Given the description of an element on the screen output the (x, y) to click on. 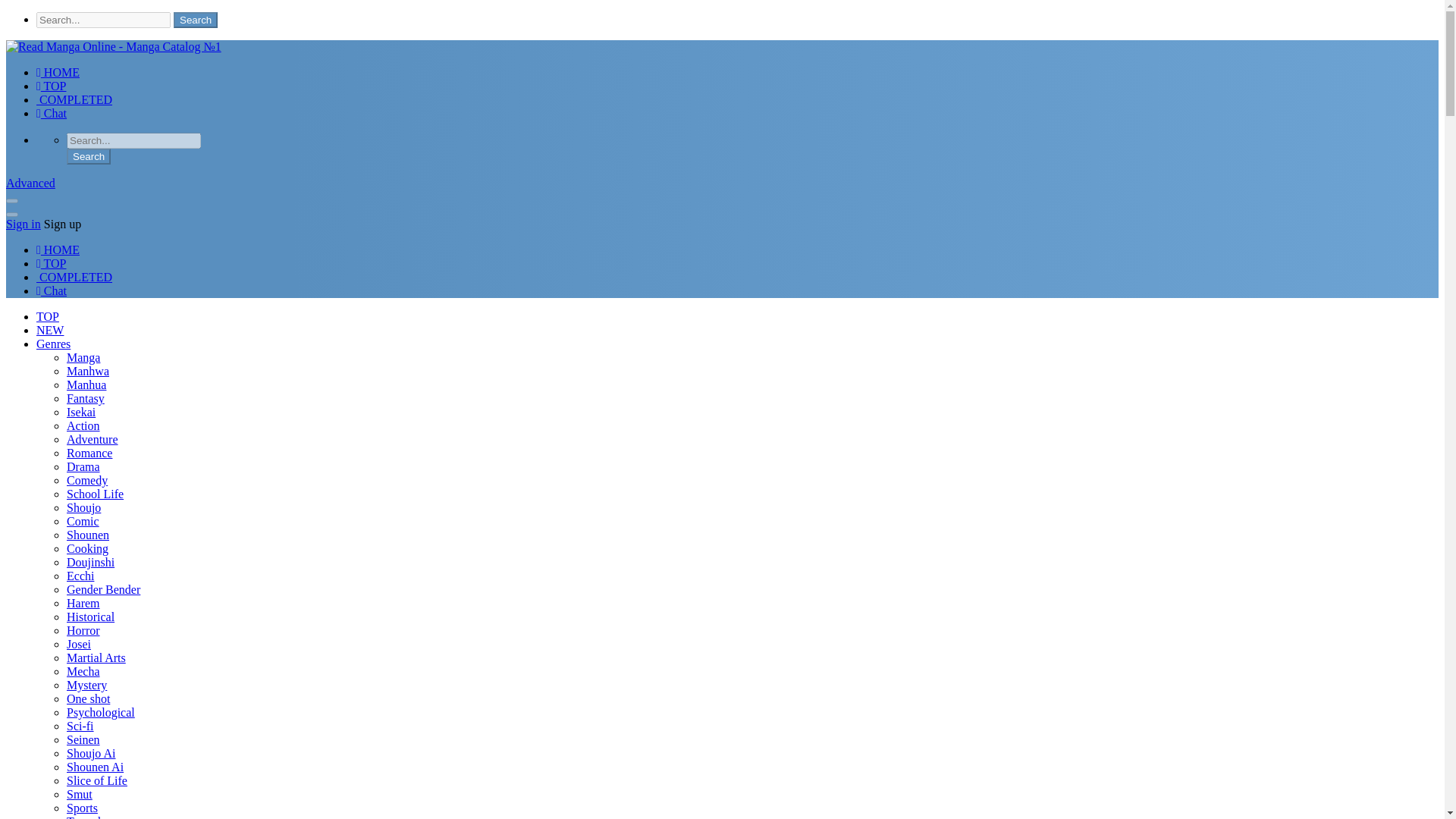
NEW (50, 329)
TOP (51, 263)
Isekai (81, 411)
Historical (90, 616)
School Life (94, 493)
Genres (52, 343)
Doujinshi (90, 562)
COMPLETED (74, 277)
Shoujo (83, 507)
Search (194, 19)
Shounen (87, 534)
COMPLETED (74, 99)
TOP (51, 85)
Comic (82, 521)
Drama (83, 466)
